Given the description of an element on the screen output the (x, y) to click on. 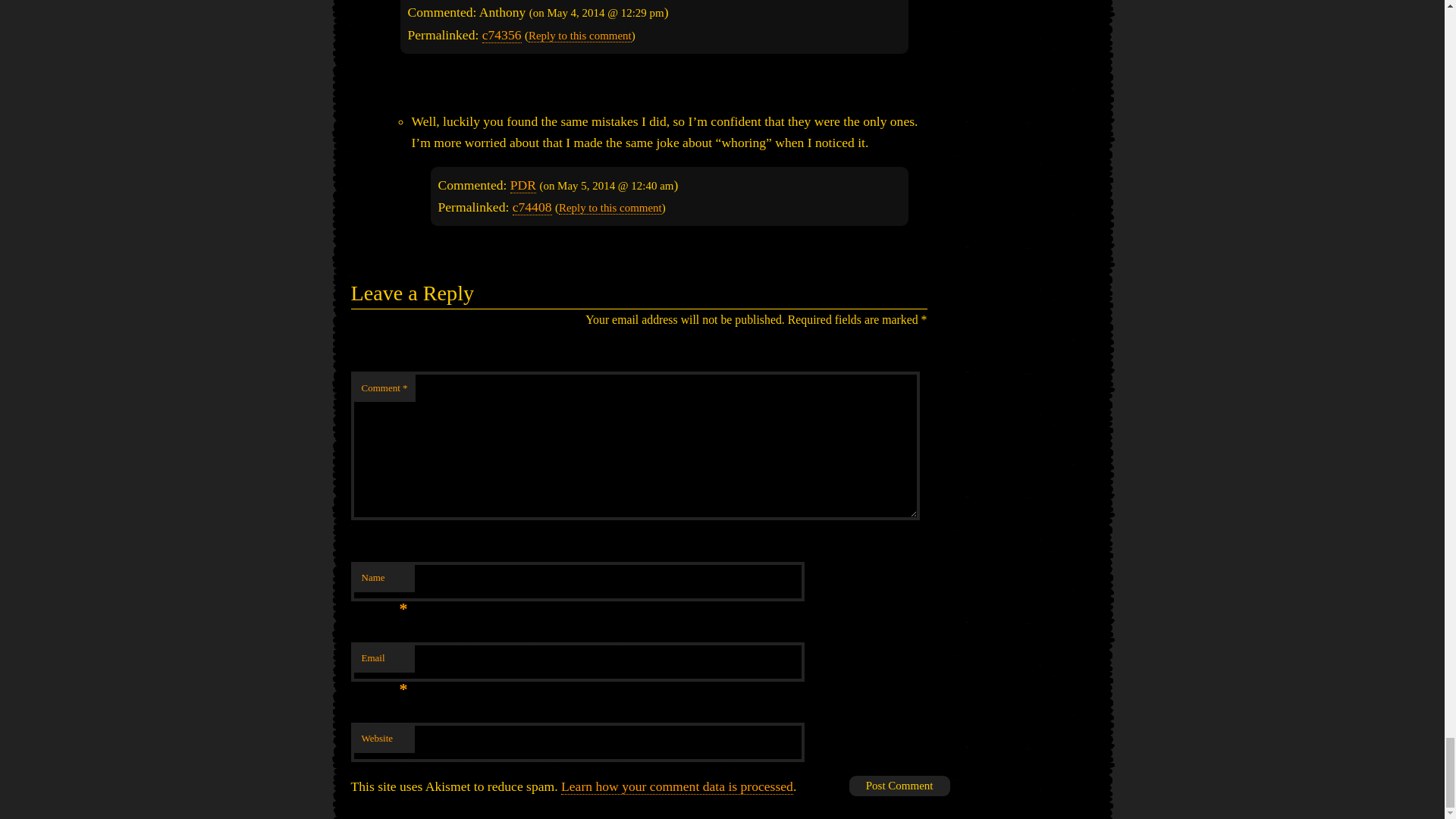
Reply to this comment (579, 35)
Post Comment (899, 785)
c74408 (531, 207)
Learn how your comment data is processed (676, 786)
Reply to this comment (610, 207)
Post Comment (899, 785)
PDR (523, 185)
c74356 (501, 35)
